Given the description of an element on the screen output the (x, y) to click on. 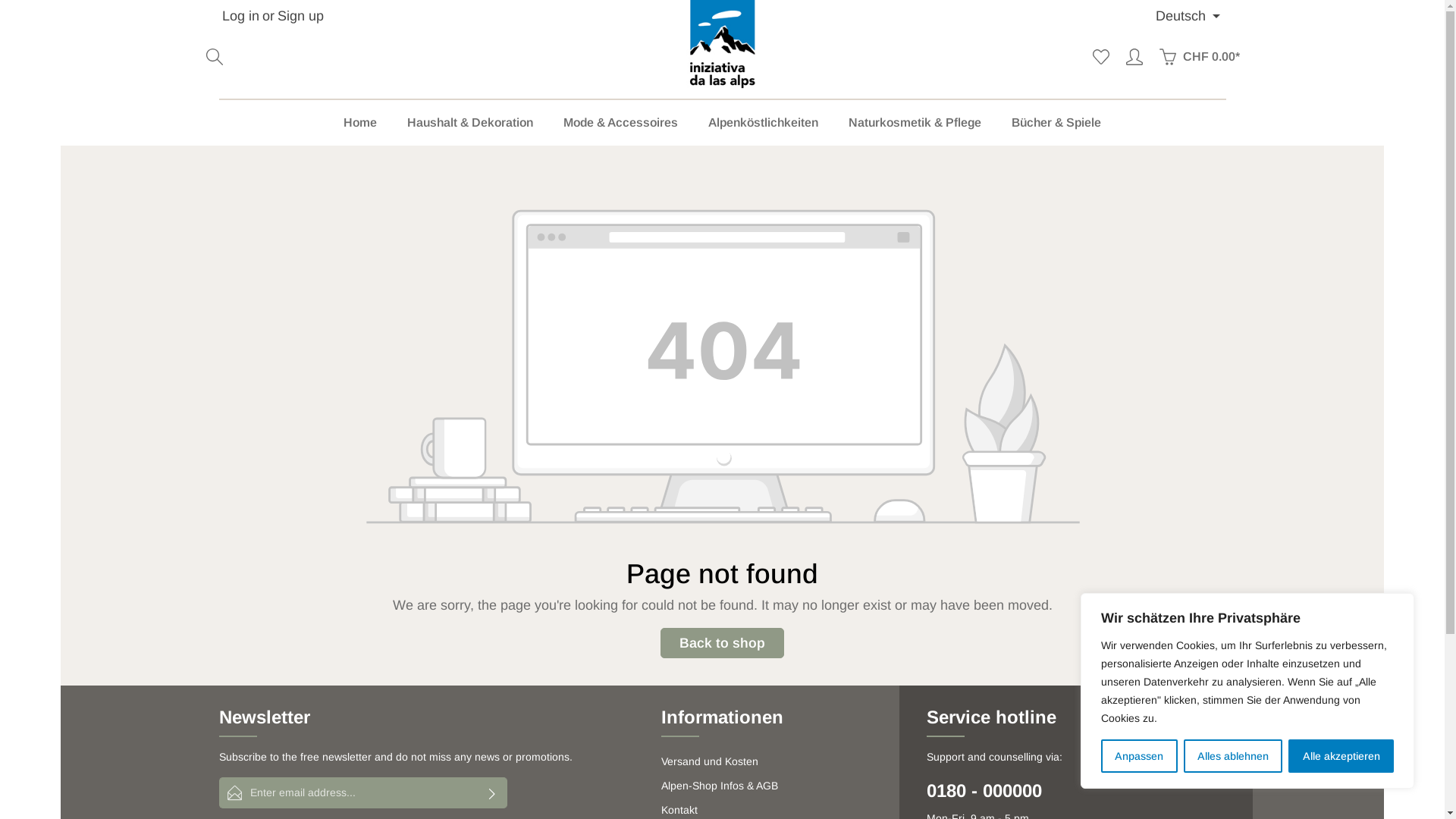
Wishlist Element type: hover (1100, 56)
CHF 0.00* Element type: text (1198, 56)
Versand und Kosten Element type: text (709, 760)
Haushalt & Dekoration Element type: text (470, 122)
Your account Element type: hover (1134, 56)
Alpen-Shop Infos & AGB Element type: text (719, 785)
0180 - 000000 Element type: text (1076, 790)
Anpassen Element type: text (1139, 755)
Alle akzeptieren Element type: text (1340, 755)
Home Element type: text (360, 122)
Sign up Element type: text (300, 14)
Naturkosmetik & Pflege Element type: text (914, 122)
Back to shop Element type: text (722, 642)
Alles ablehnen Element type: text (1233, 755)
Deutsch Element type: text (1186, 15)
Log in Element type: text (239, 14)
Mode & Accessoires Element type: text (620, 122)
Go to homepage Element type: hover (722, 45)
